Given the description of an element on the screen output the (x, y) to click on. 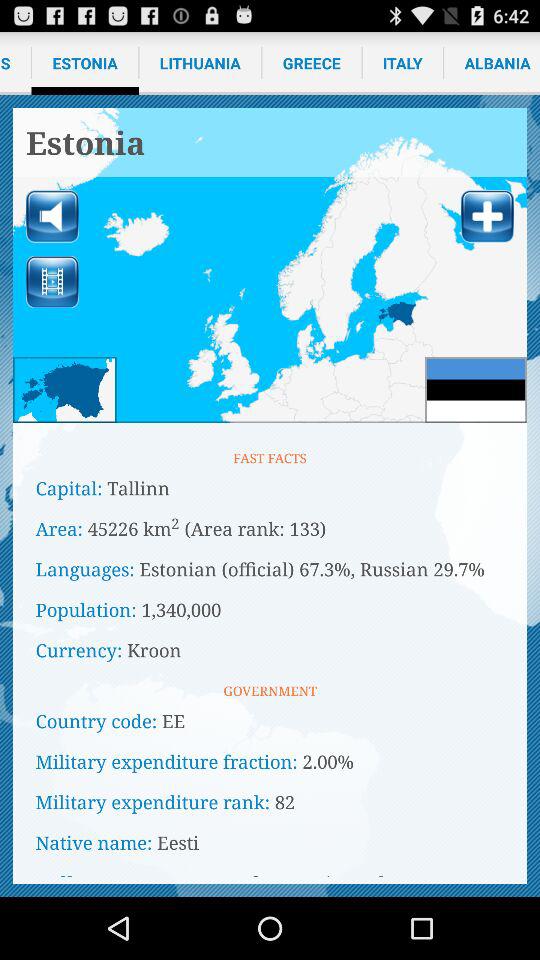
watch video (52, 281)
